Given the description of an element on the screen output the (x, y) to click on. 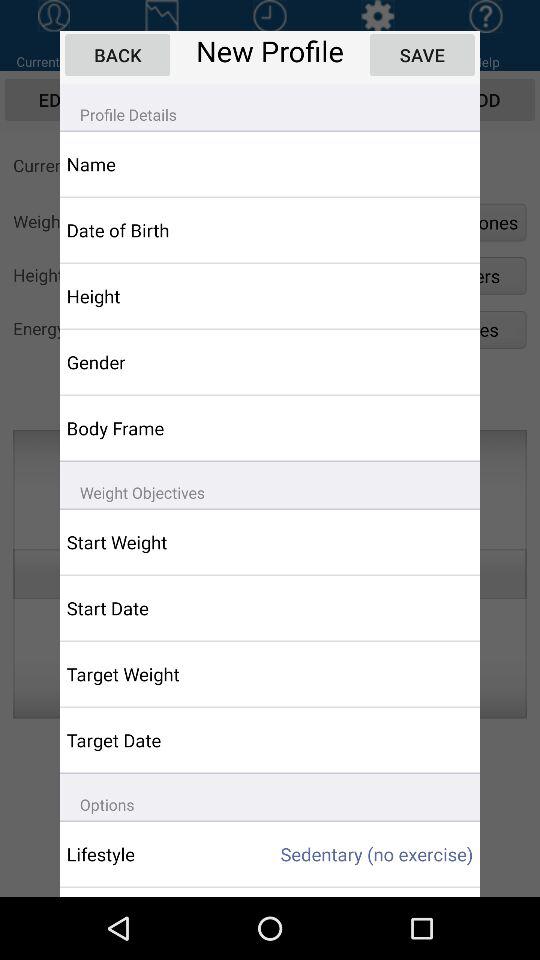
select the target weight (156, 673)
